Given the description of an element on the screen output the (x, y) to click on. 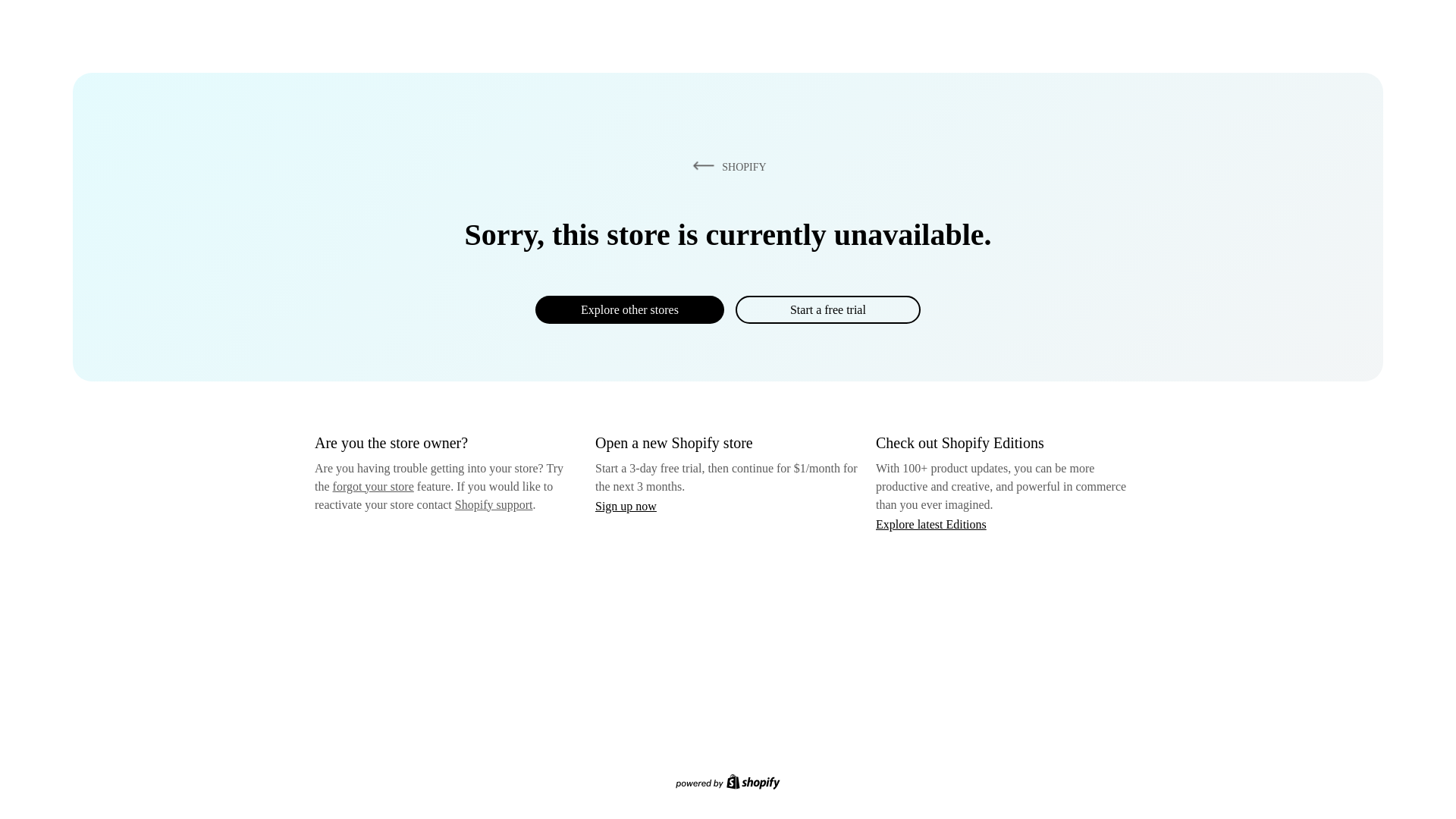
Shopify support (493, 504)
Sign up now (625, 505)
Start a free trial (827, 309)
Explore latest Editions (931, 523)
SHOPIFY (726, 166)
Explore other stores (629, 309)
forgot your store (373, 486)
